Given the description of an element on the screen output the (x, y) to click on. 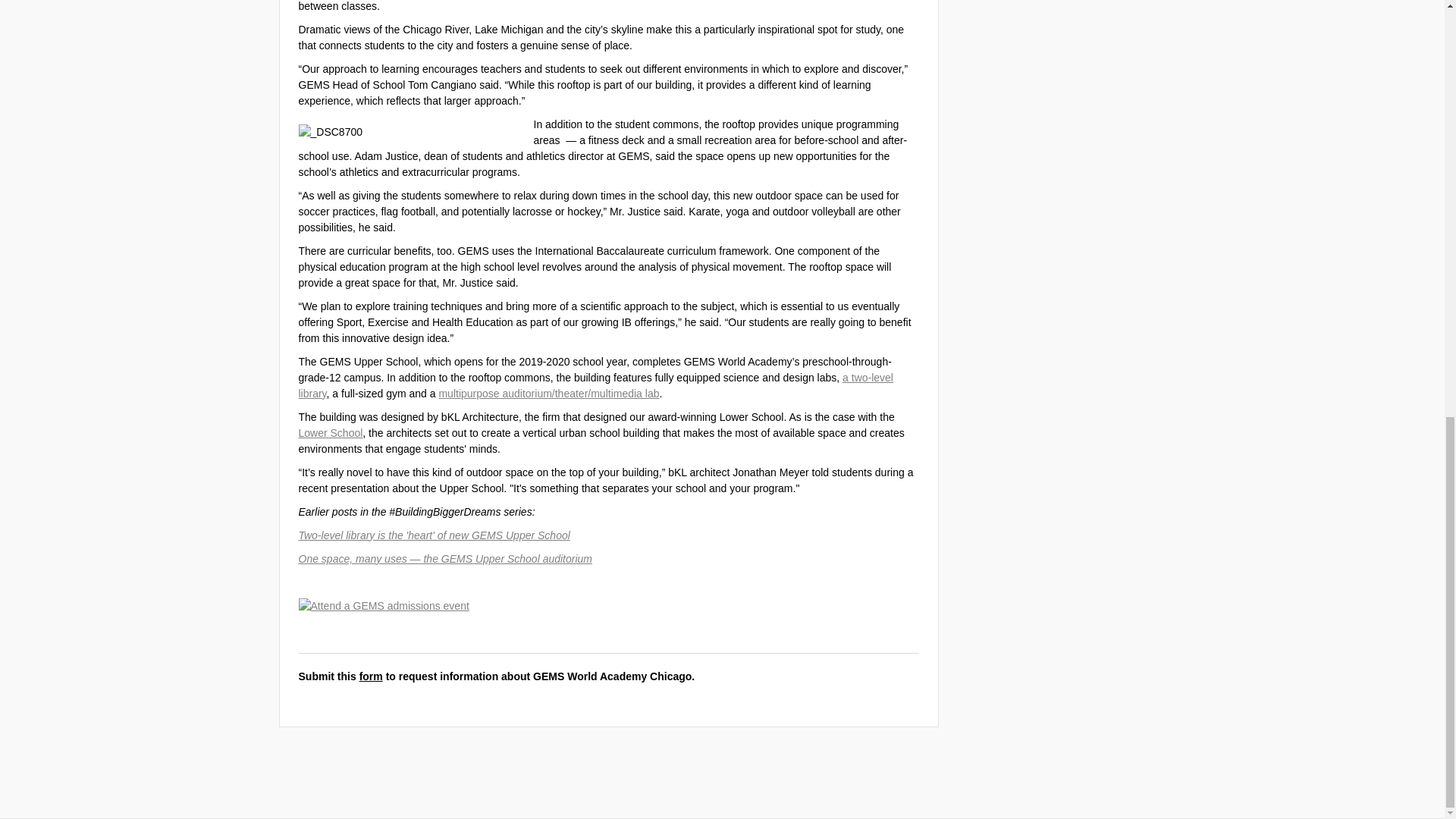
Lower School (330, 432)
a two-level library (595, 384)
form (370, 675)
Two-level library is the 'heart' of new GEMS Upper School (434, 534)
